Given the description of an element on the screen output the (x, y) to click on. 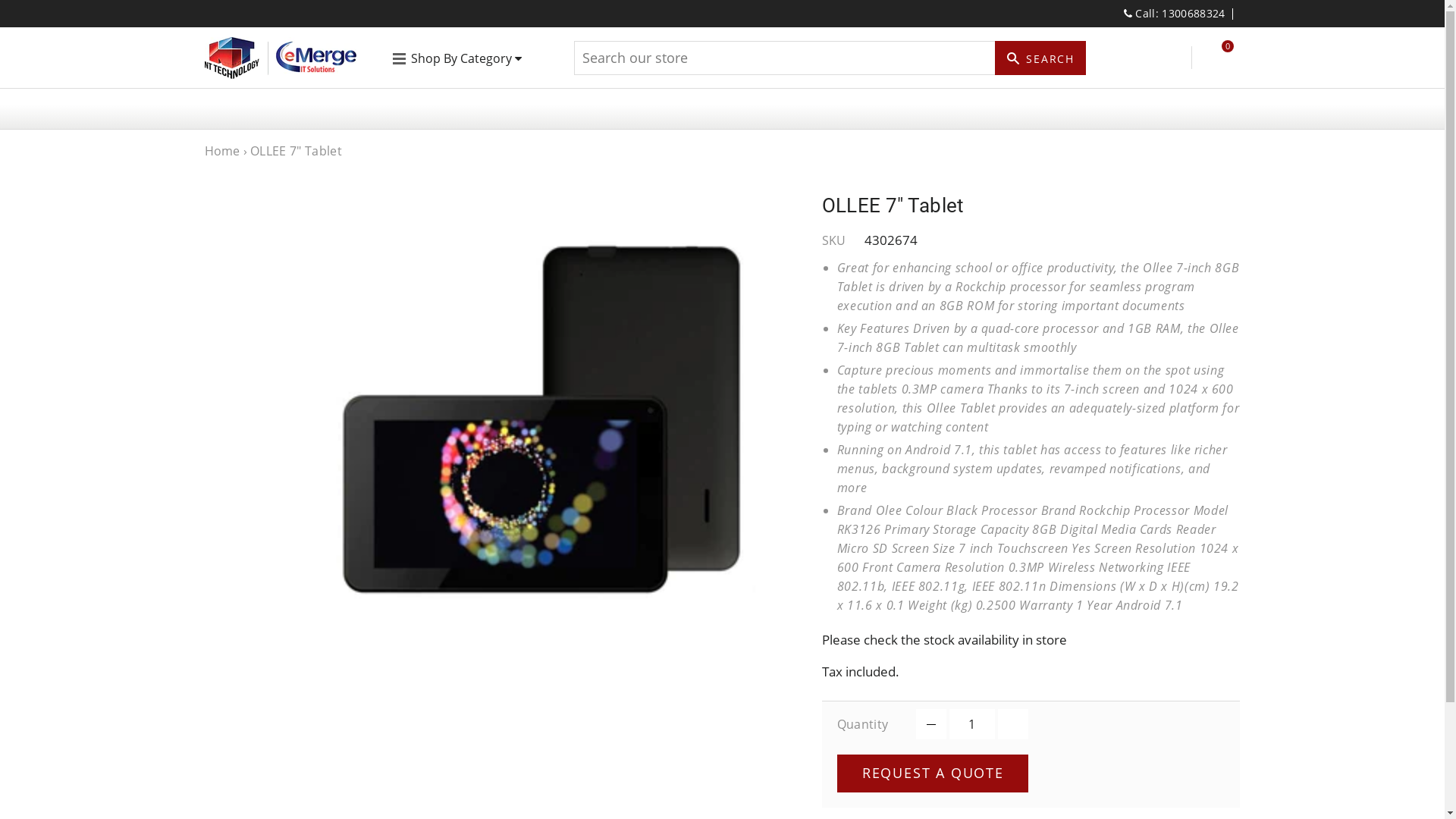
Call: 1300688324 Element type: text (1174, 13)
SEARCH Element type: text (1039, 57)
Home Element type: text (222, 150)
Log In Element type: text (1170, 56)
REQUEST A QUOTE Element type: text (932, 773)
Cart
0 Element type: text (1217, 56)
